Given the description of an element on the screen output the (x, y) to click on. 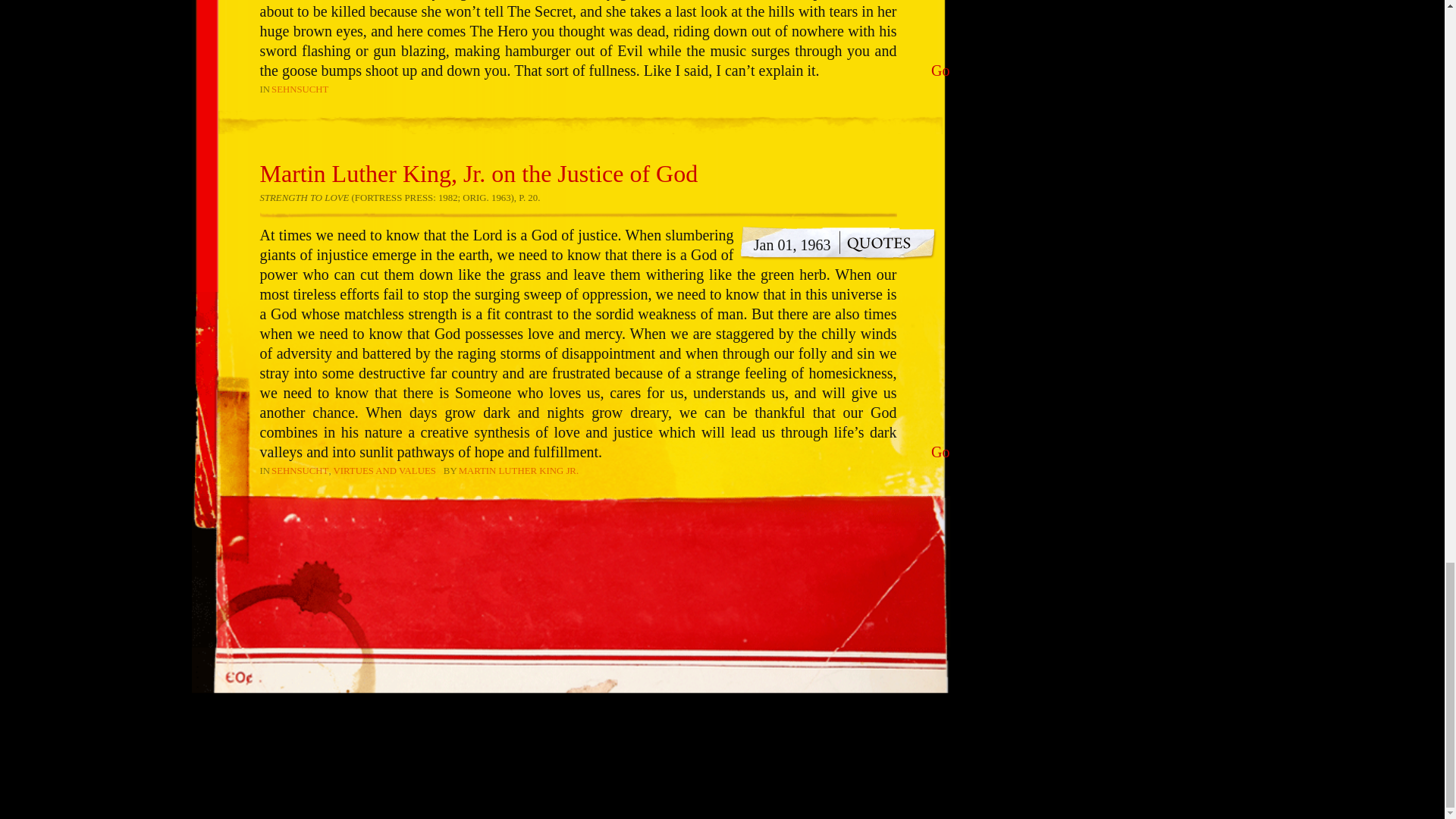
SEHNSUCHT (299, 89)
Go (940, 70)
Go (940, 451)
VIRTUES AND VALUES (384, 470)
MARTIN LUTHER KING JR. (518, 470)
View all posts by Martin Luther King Jr. (518, 470)
Martin Luther King, Jr. on the Justice of God (478, 173)
SEHNSUCHT (299, 470)
